Given the description of an element on the screen output the (x, y) to click on. 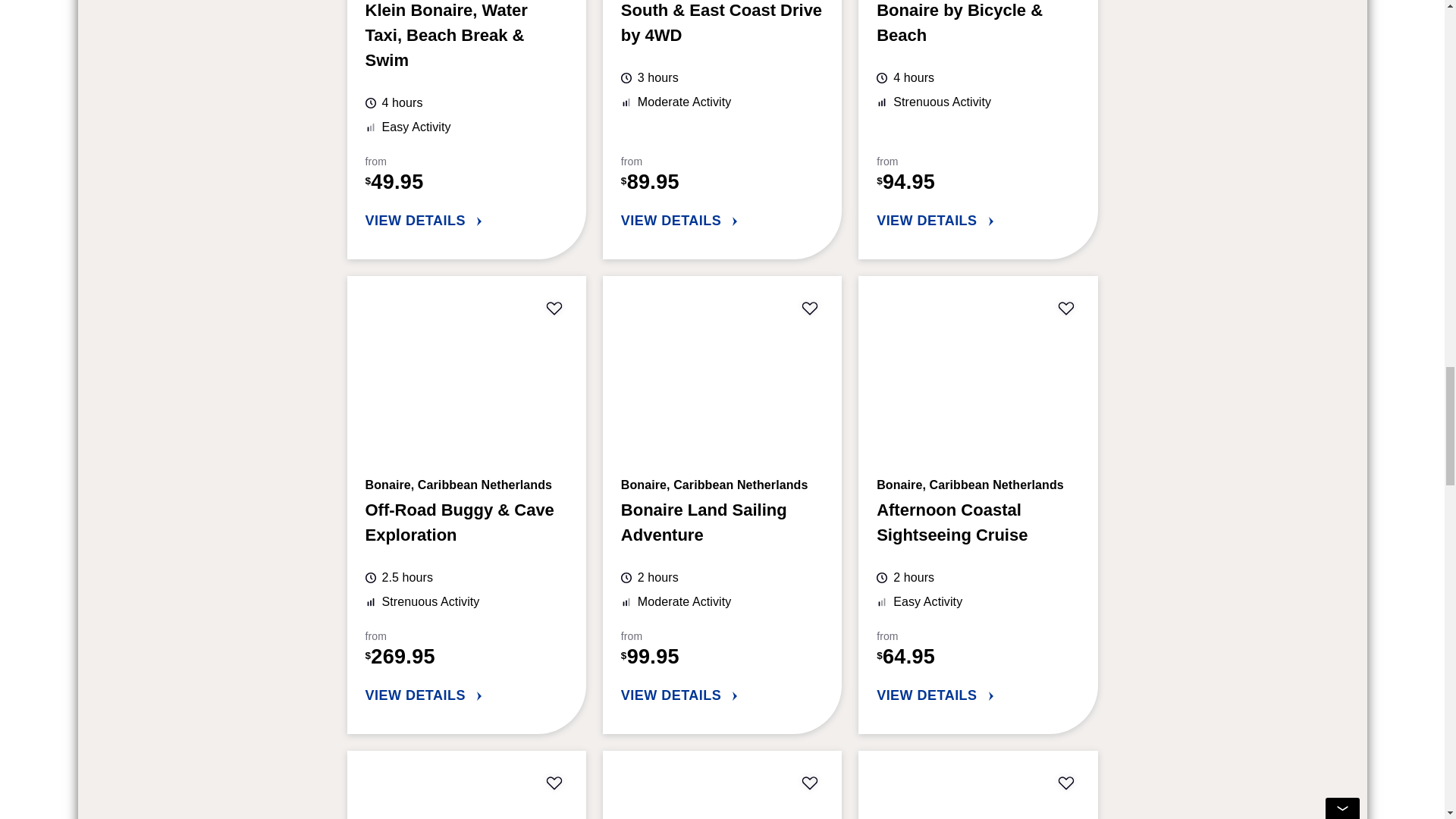
VIEW DETAILS (722, 695)
VIEW DETAILS (977, 695)
VIEW DETAILS (722, 221)
VIEW DETAILS (466, 221)
VIEW DETAILS (977, 221)
VIEW DETAILS (466, 695)
